Given the description of an element on the screen output the (x, y) to click on. 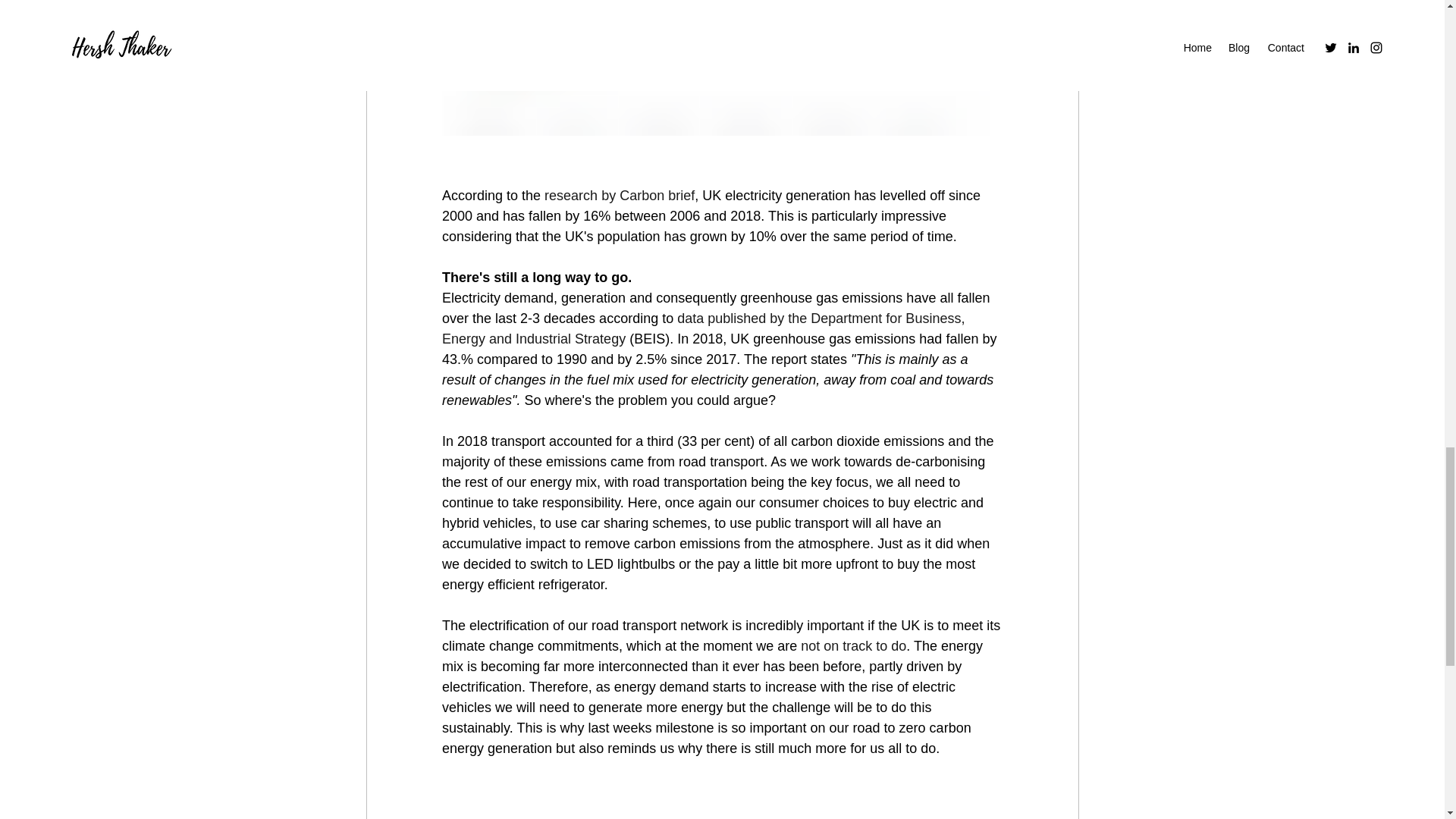
not on track to do (852, 645)
research by Carbon brief (619, 195)
